Given the description of an element on the screen output the (x, y) to click on. 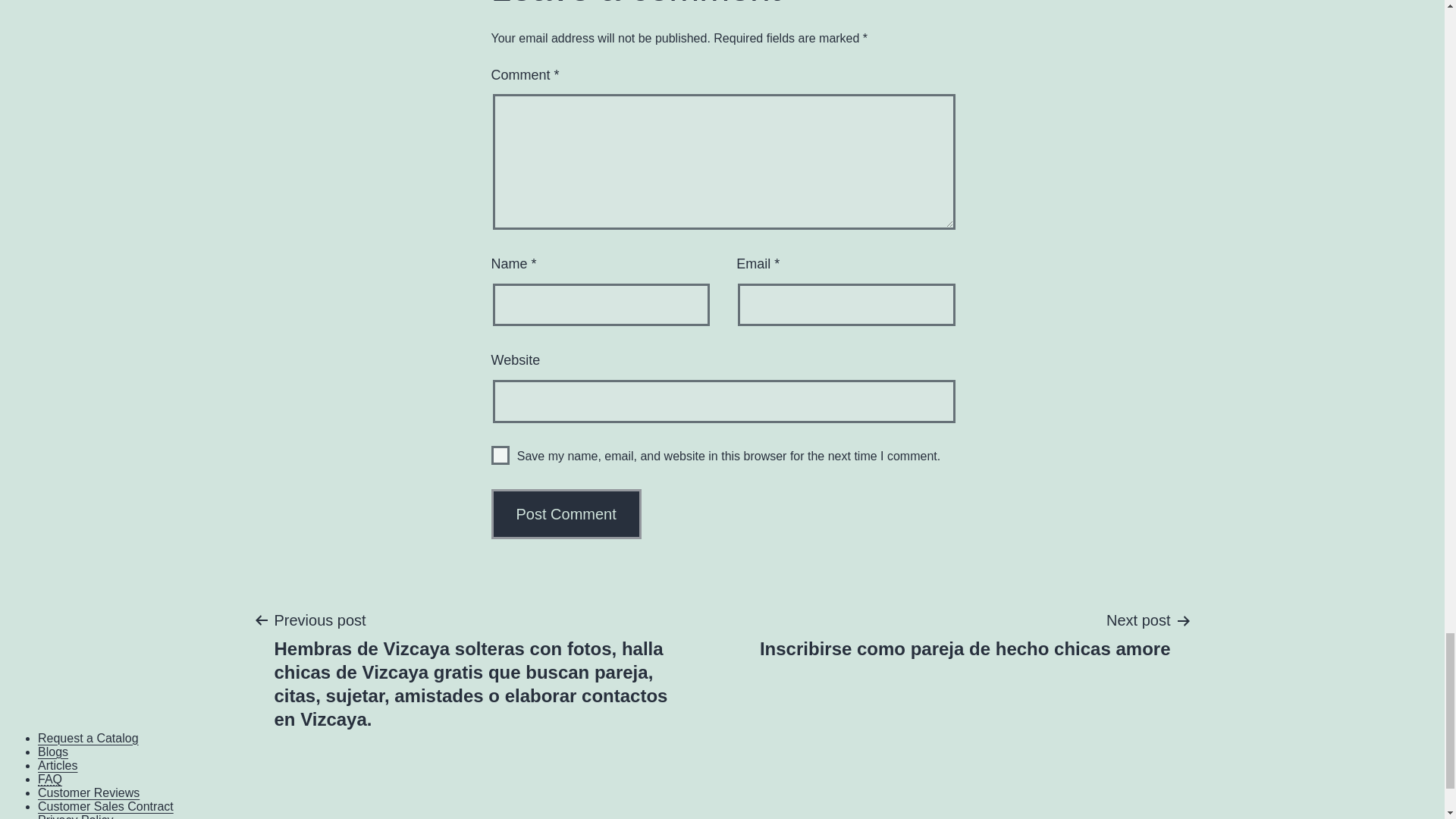
Frequently Asked Questions (49, 779)
Articles (57, 765)
Privacy Policy (75, 816)
Customer Reviews (965, 633)
Post Comment (88, 792)
Post Comment (567, 513)
FAQ (567, 513)
Customer Sales Contract (49, 779)
